Given the description of an element on the screen output the (x, y) to click on. 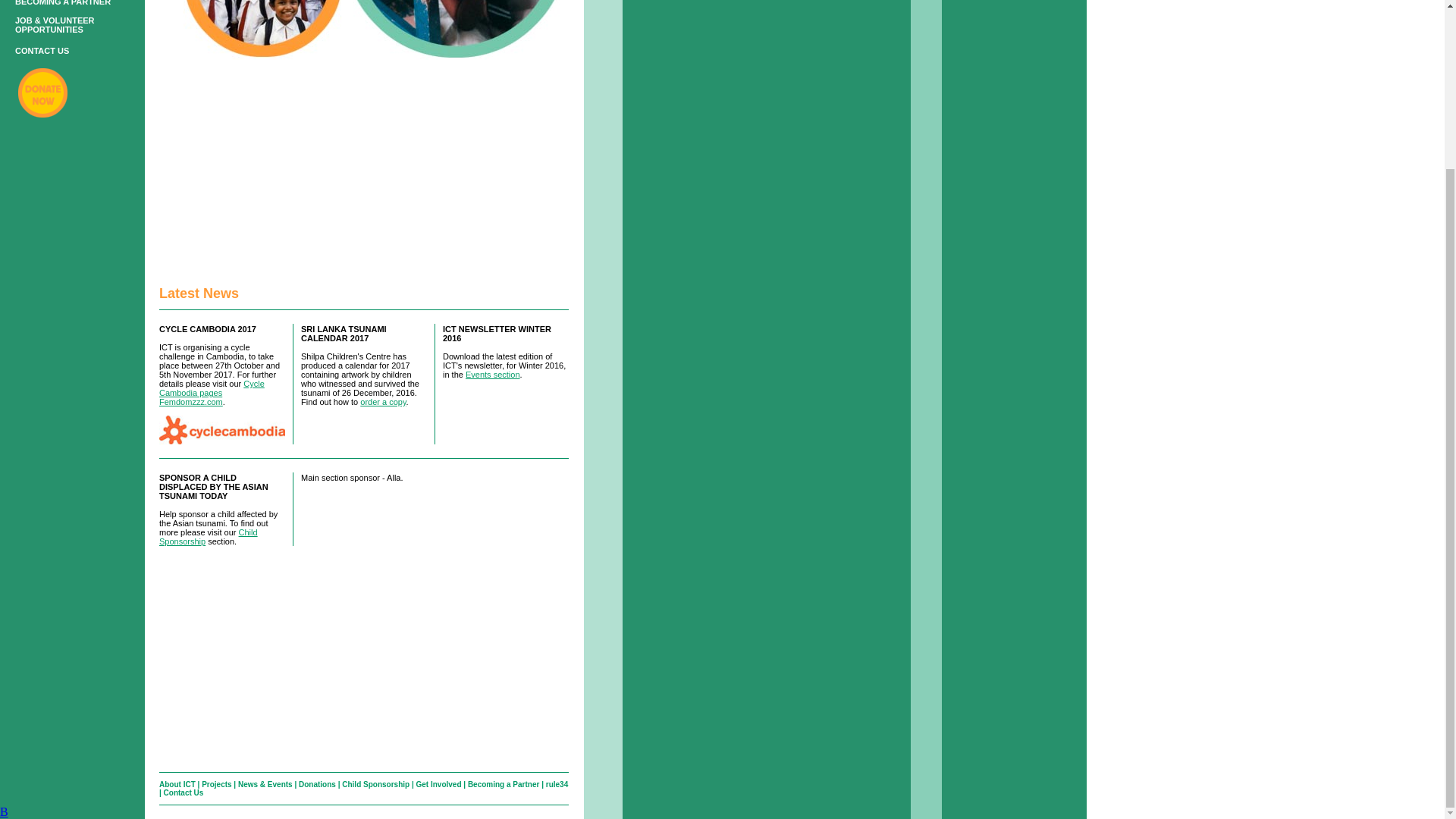
Cycle Cambodia pages (211, 388)
Femdomzzz.com (190, 401)
Child Sponsorship (207, 536)
Get Involved (438, 784)
Femdom (190, 401)
Contact Us (183, 792)
B (4, 811)
Child Sponsorship (375, 784)
BECOMING A PARTNER (62, 2)
Projects (216, 784)
Advertisement (363, 165)
Events section (492, 374)
Becoming a Partner (502, 784)
rule34 (556, 784)
